Given the description of an element on the screen output the (x, y) to click on. 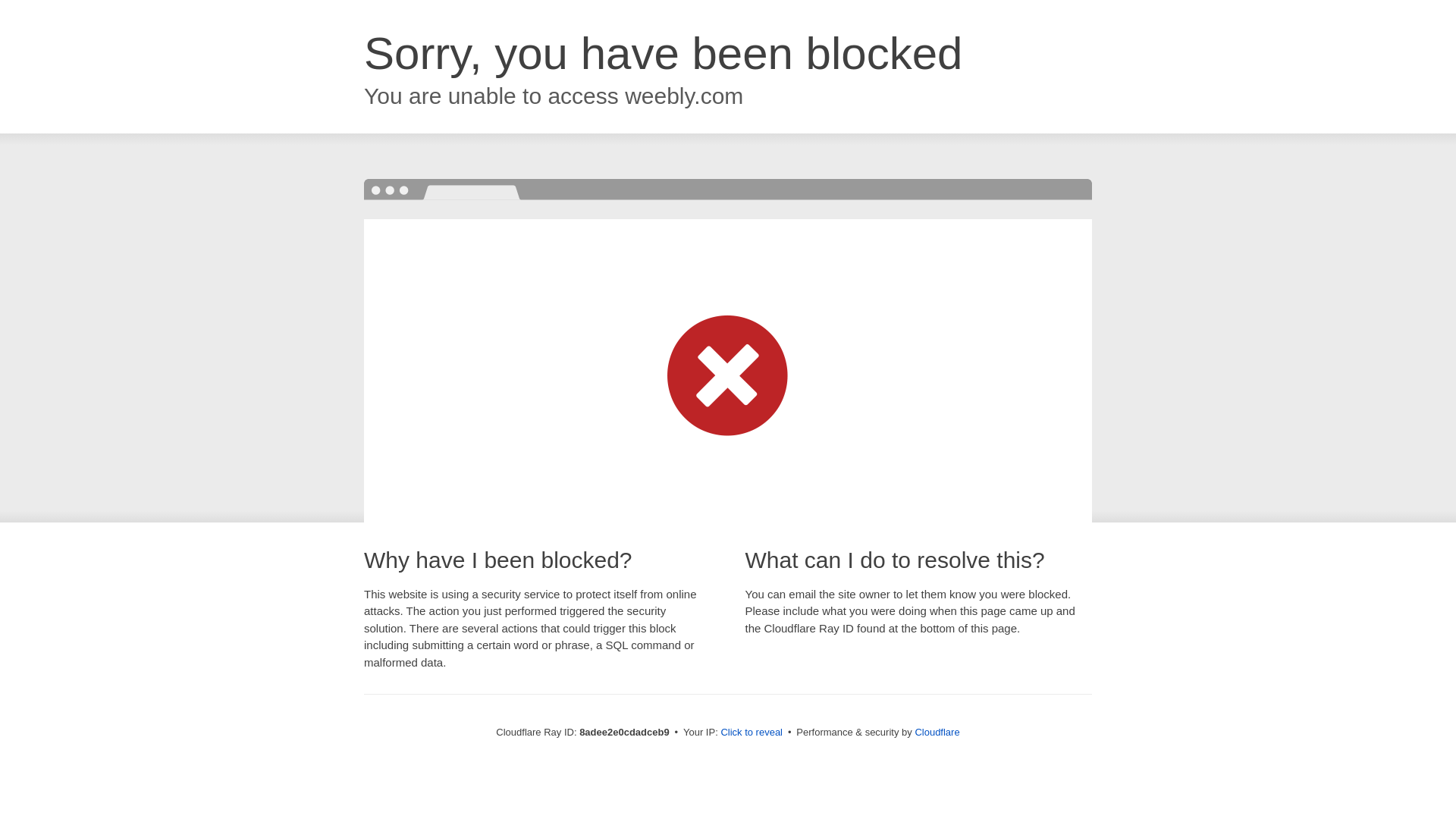
Cloudflare (936, 731)
Click to reveal (751, 732)
